Given the description of an element on the screen output the (x, y) to click on. 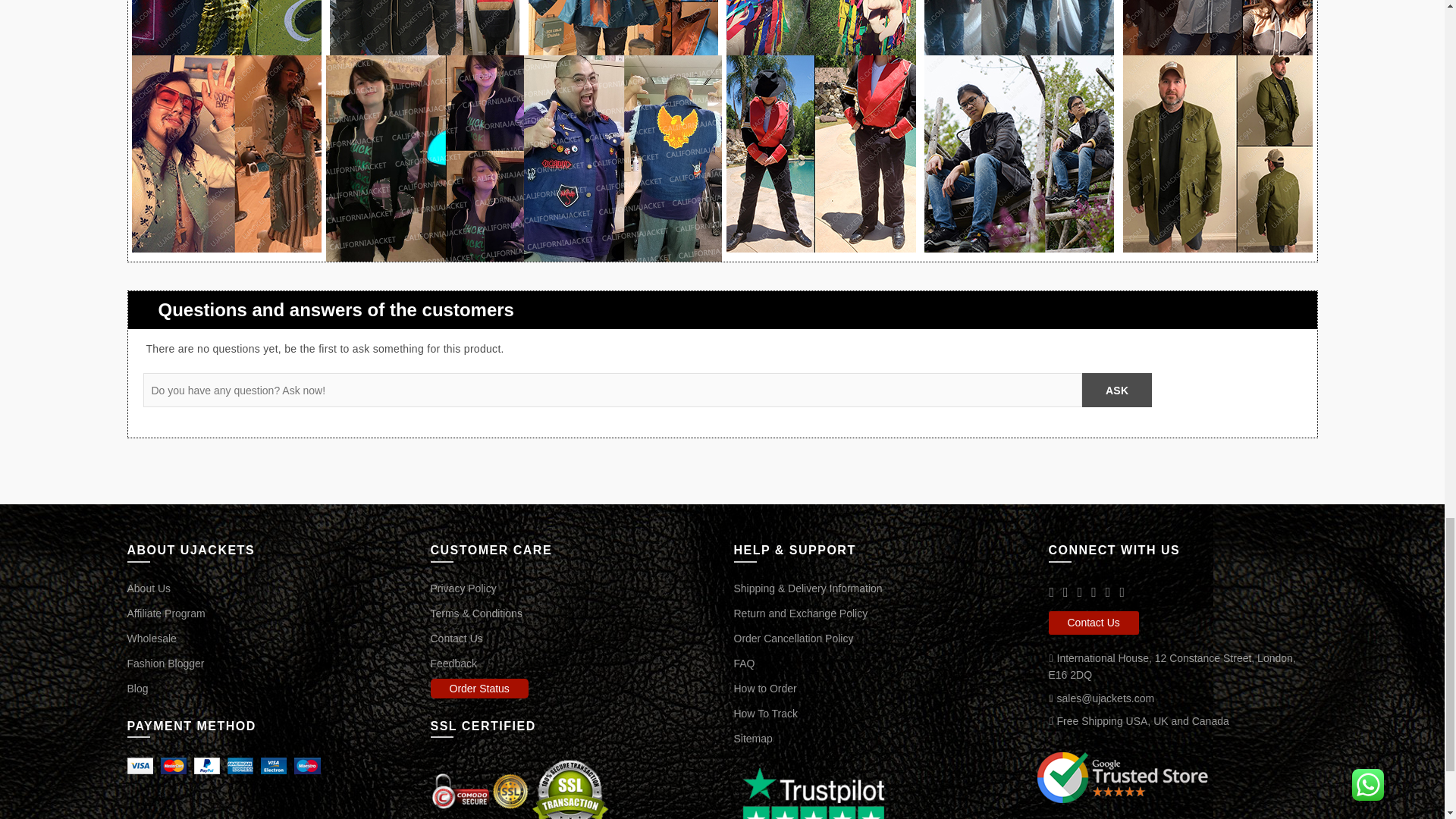
Ask your question (1116, 390)
Ask (1116, 390)
